Given the description of an element on the screen output the (x, y) to click on. 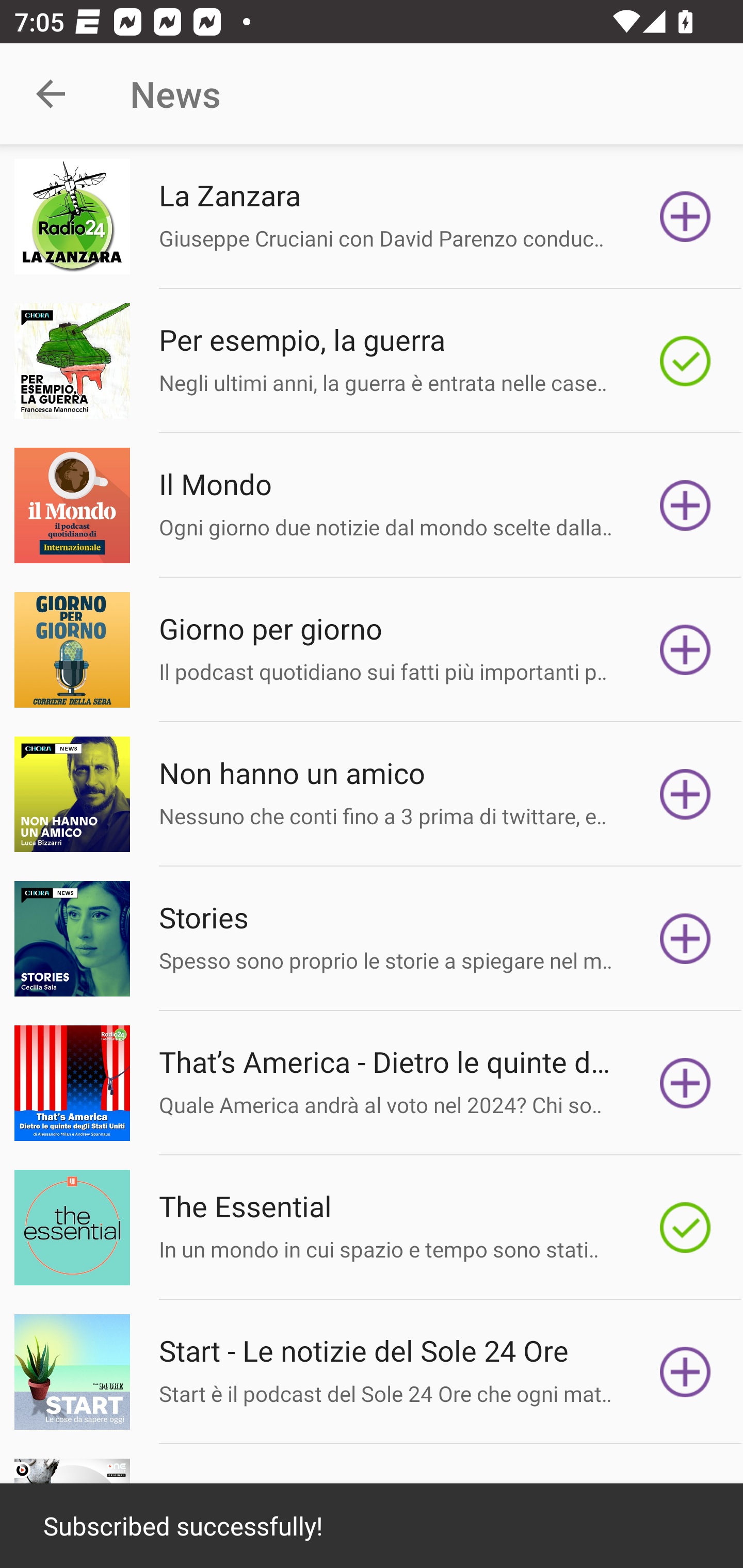
Navigate up (50, 93)
Subscribe (685, 216)
Subscribed (685, 360)
Subscribe (685, 505)
Subscribe (685, 649)
Subscribe (685, 793)
Subscribe (685, 939)
Subscribe (685, 1083)
Subscribed (685, 1227)
Subscribe (685, 1371)
Subscribed successfully! (371, 1525)
